Given the description of an element on the screen output the (x, y) to click on. 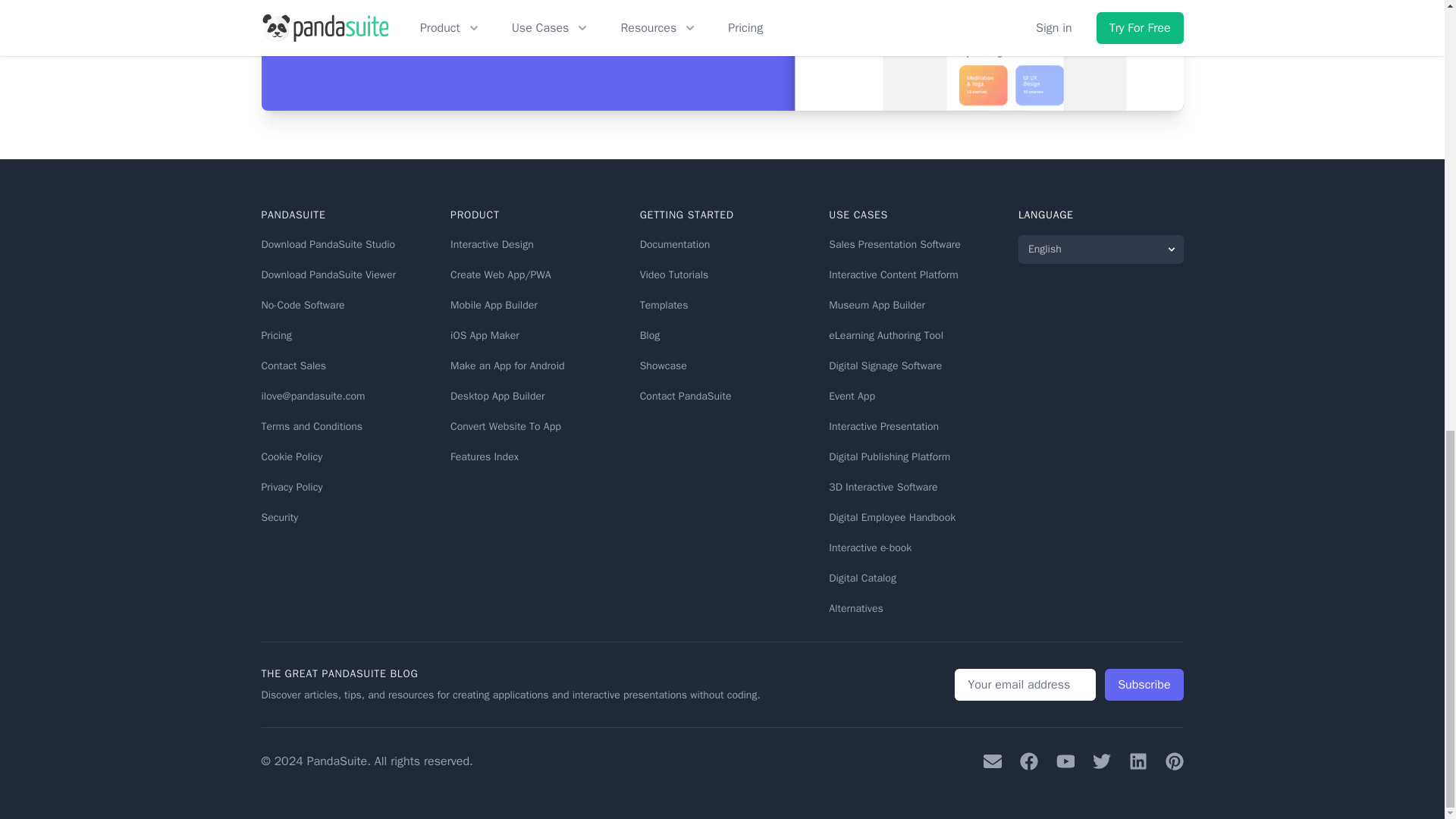
Contact Sales (293, 365)
Showcase (663, 365)
Download PandaSuite Studio (327, 244)
Cookie Policy (290, 456)
Pricing (275, 335)
Contact PandaSuite (686, 395)
Convert Website To App (504, 426)
Sales Presentation Software (894, 244)
Make an App for Android (506, 365)
Privacy Policy (290, 486)
Download PandaSuite Viewer (328, 274)
Interactive Design (491, 244)
Blog (650, 335)
Video Tutorials (674, 274)
iOS App Maker (484, 335)
